Given the description of an element on the screen output the (x, y) to click on. 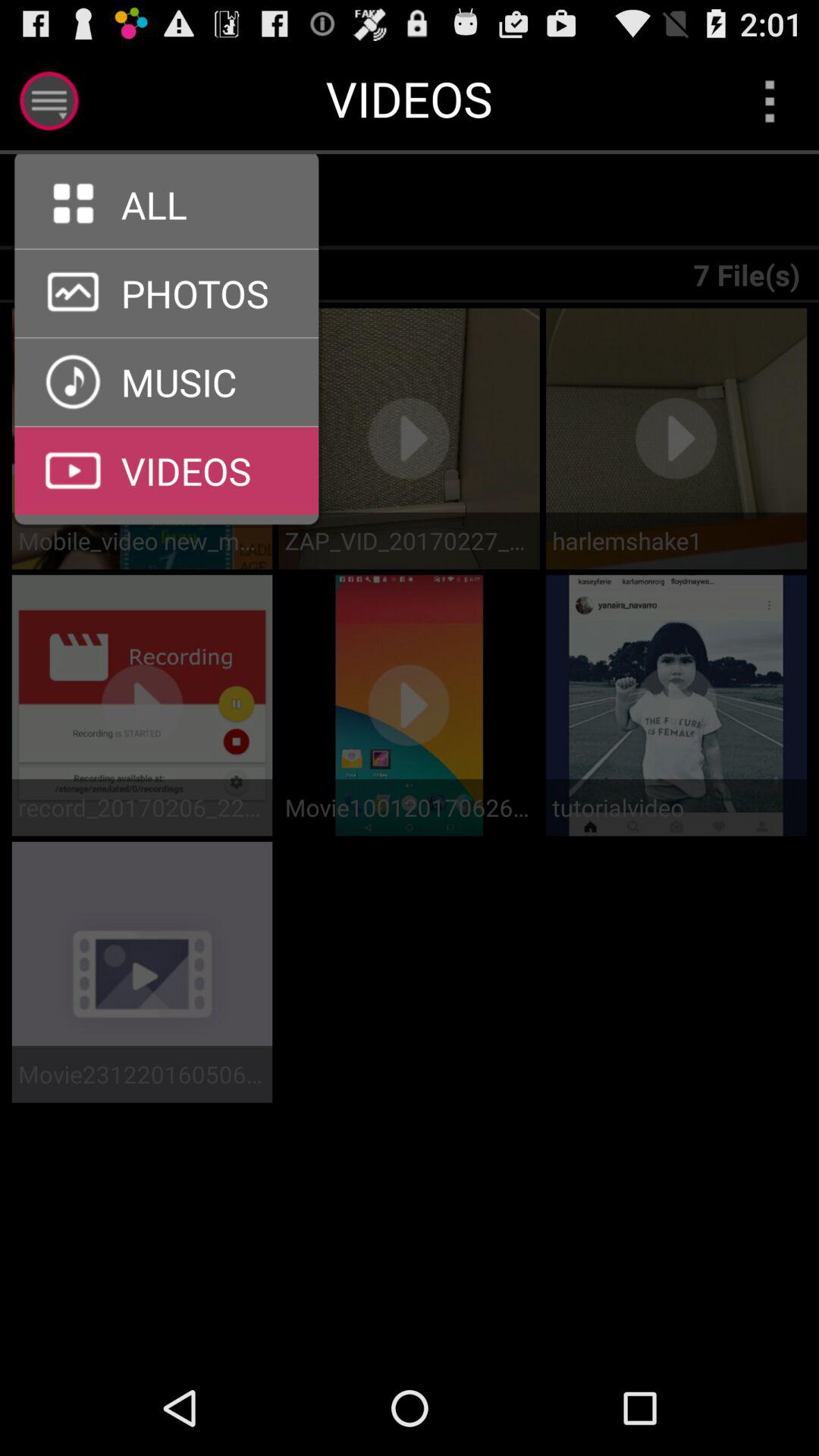
shows photo option (166, 337)
